Given the description of an element on the screen output the (x, y) to click on. 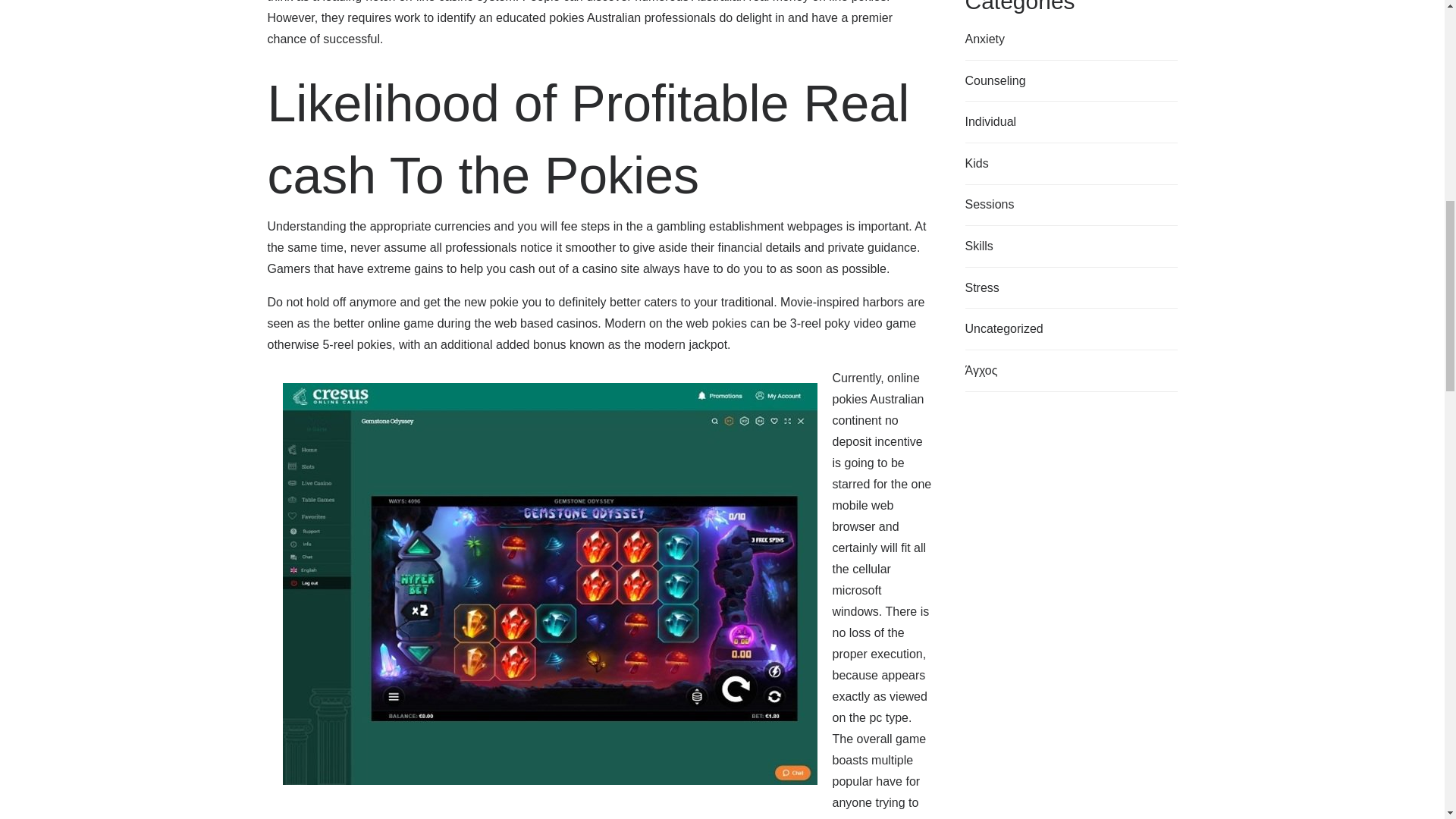
Anxiety (983, 38)
Uncategorized (1002, 328)
Stress (980, 287)
Counseling (994, 80)
Kids (975, 163)
Skills (977, 246)
Individual (989, 121)
Sessions (988, 204)
